Given the description of an element on the screen output the (x, y) to click on. 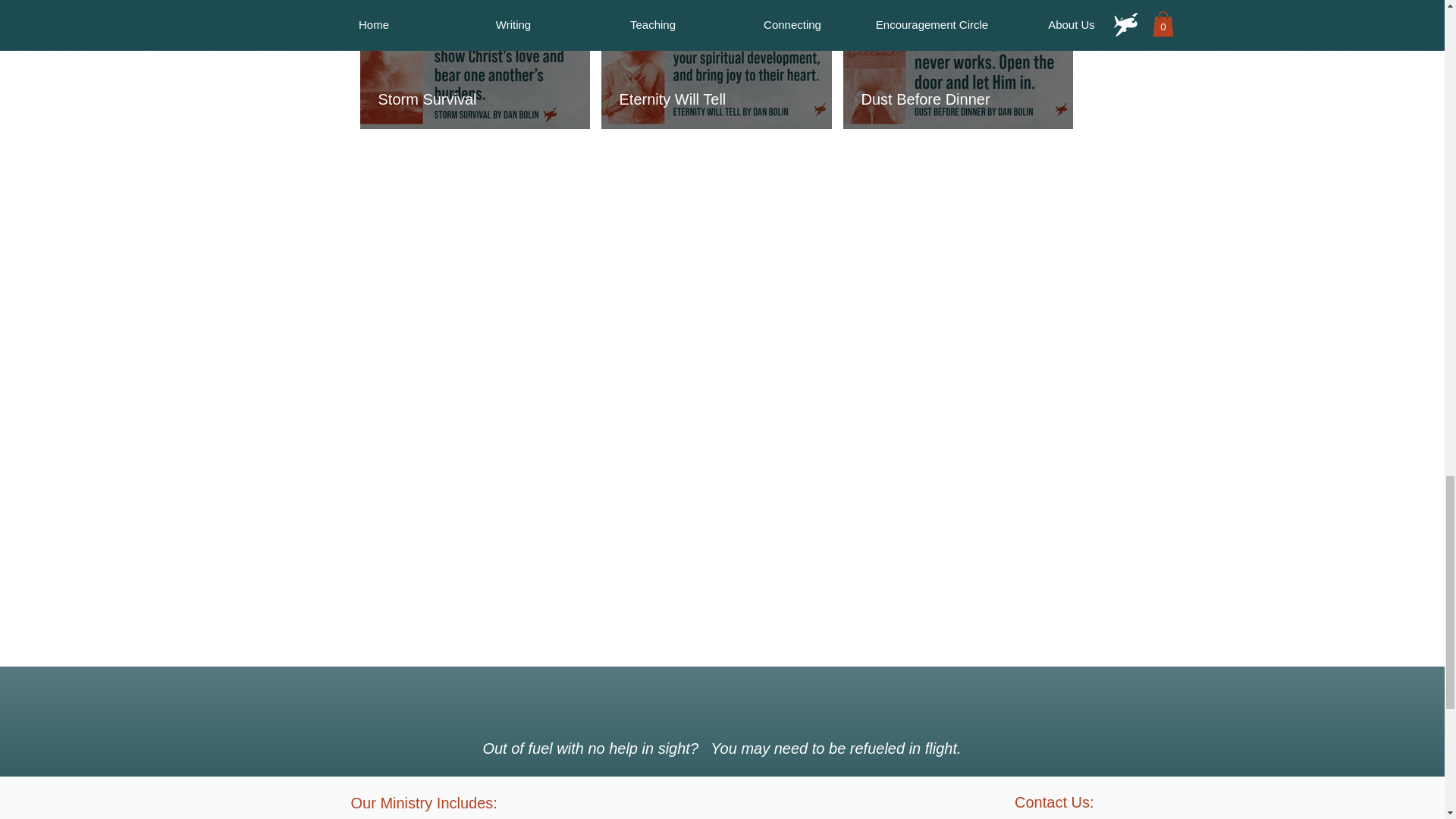
Jul 29 (389, 32)
Jul 22 (630, 32)
Jul 16 (873, 32)
